Given the description of an element on the screen output the (x, y) to click on. 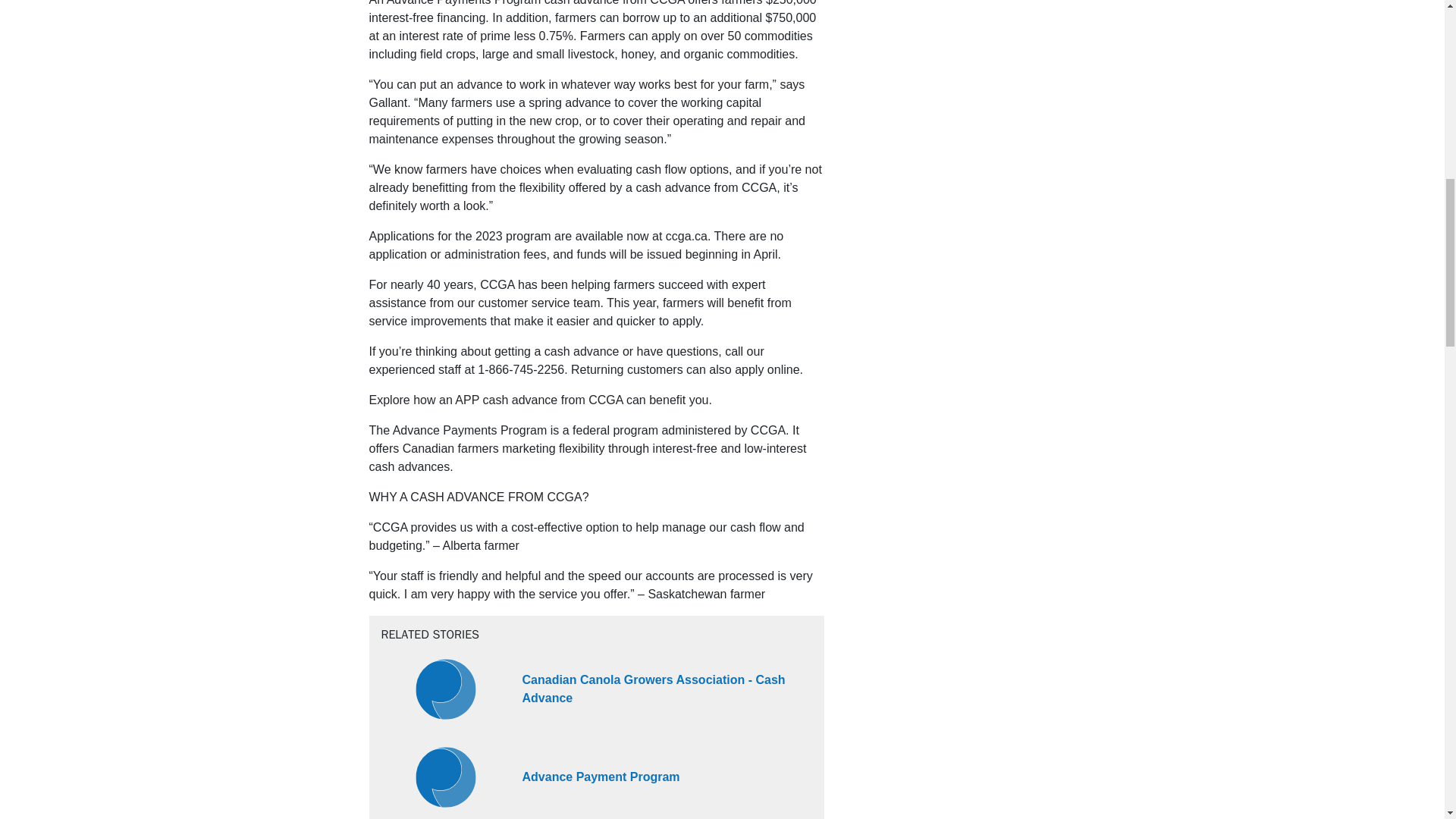
3rd party ad content (961, 5)
3rd party ad content (961, 328)
3rd party ad content (961, 733)
